Given the description of an element on the screen output the (x, y) to click on. 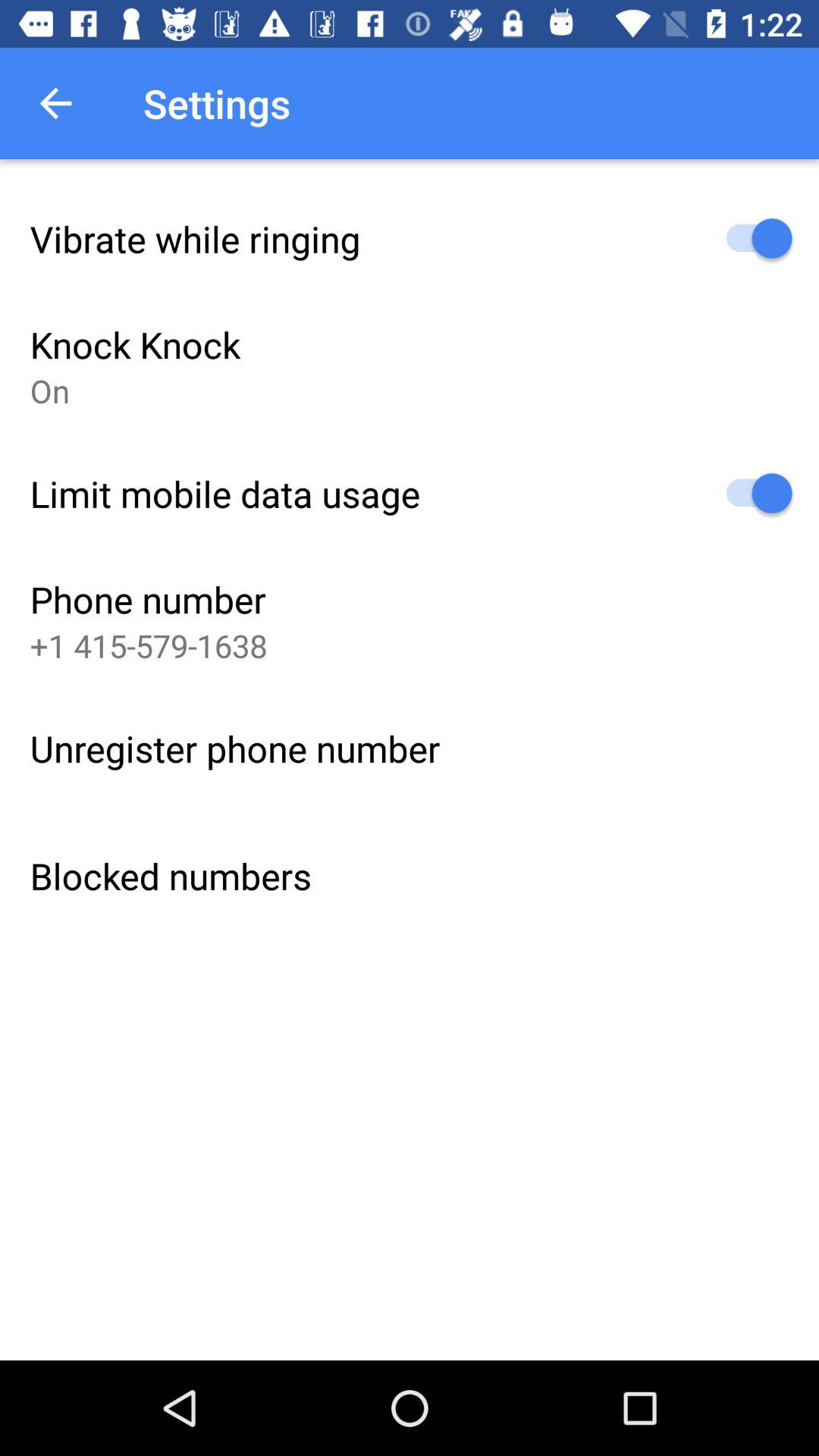
launch icon above the unregister phone number icon (148, 645)
